Given the description of an element on the screen output the (x, y) to click on. 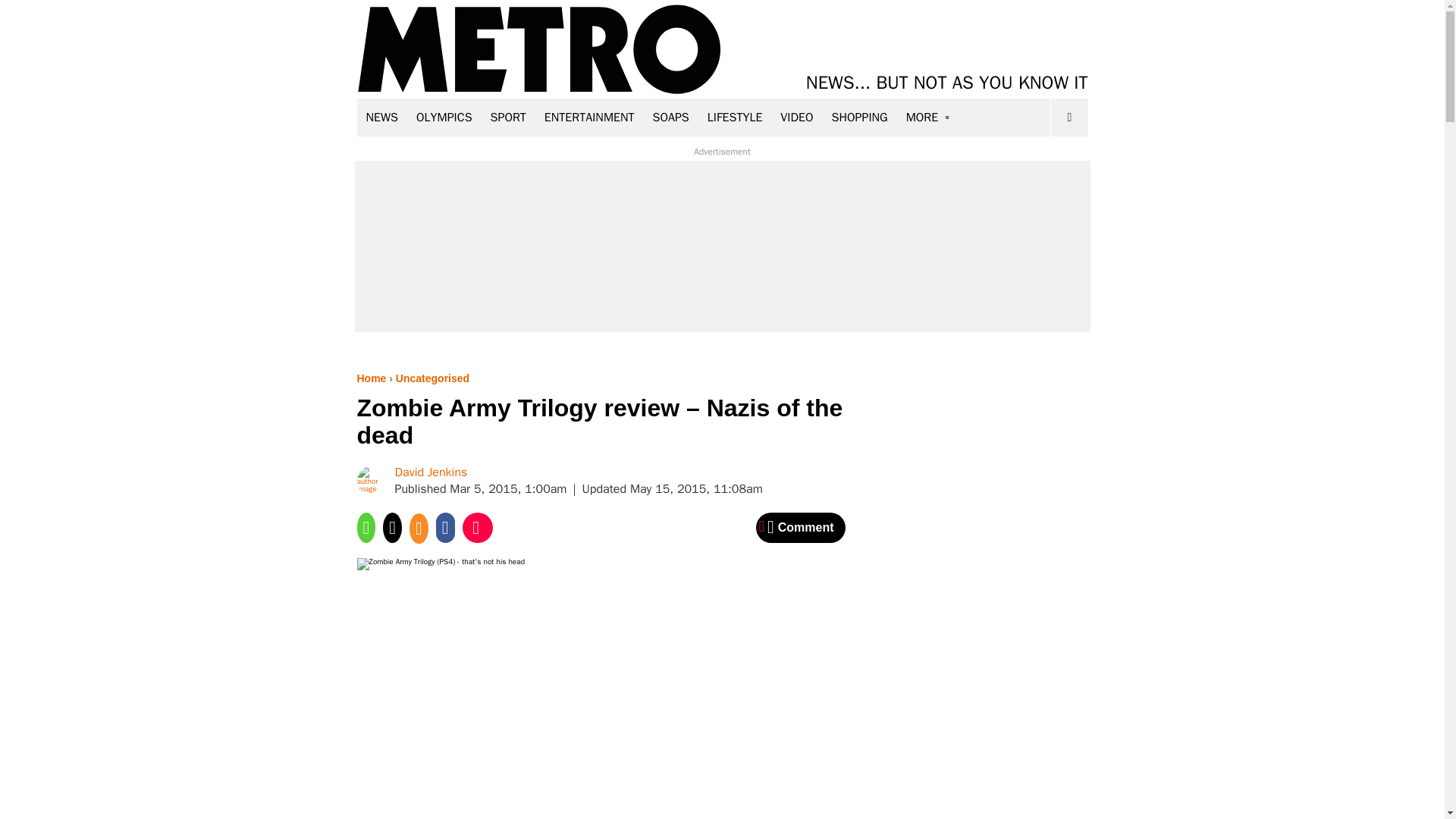
Metro (539, 50)
SPORT (508, 117)
ENTERTAINMENT (589, 117)
LIFESTYLE (734, 117)
OLYMPICS (444, 117)
NEWS (381, 117)
SOAPS (670, 117)
